Given the description of an element on the screen output the (x, y) to click on. 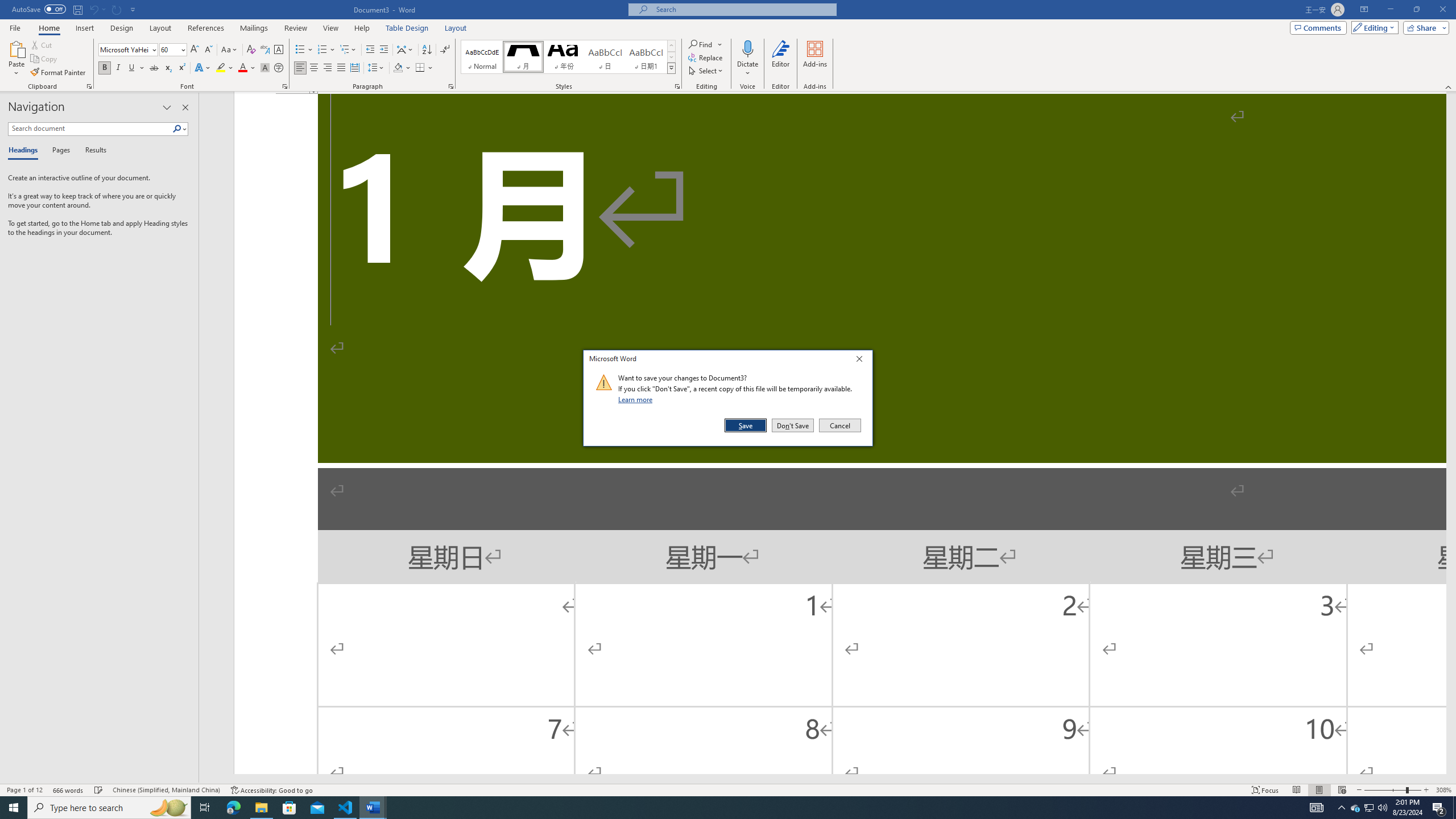
Shading RGB(0, 0, 0) (397, 67)
Text Highlight Color (224, 67)
Zoom Out (1385, 790)
Editor (780, 58)
Font Size (169, 49)
Language Chinese (Simplified, Mainland China) (165, 790)
Q2790: 100% (1382, 807)
Dictate (747, 48)
Grow Font (193, 49)
Home (48, 28)
Don't Save (792, 425)
Increase Indent (383, 49)
Distributed (354, 67)
Type here to search (108, 807)
